Given the description of an element on the screen output the (x, y) to click on. 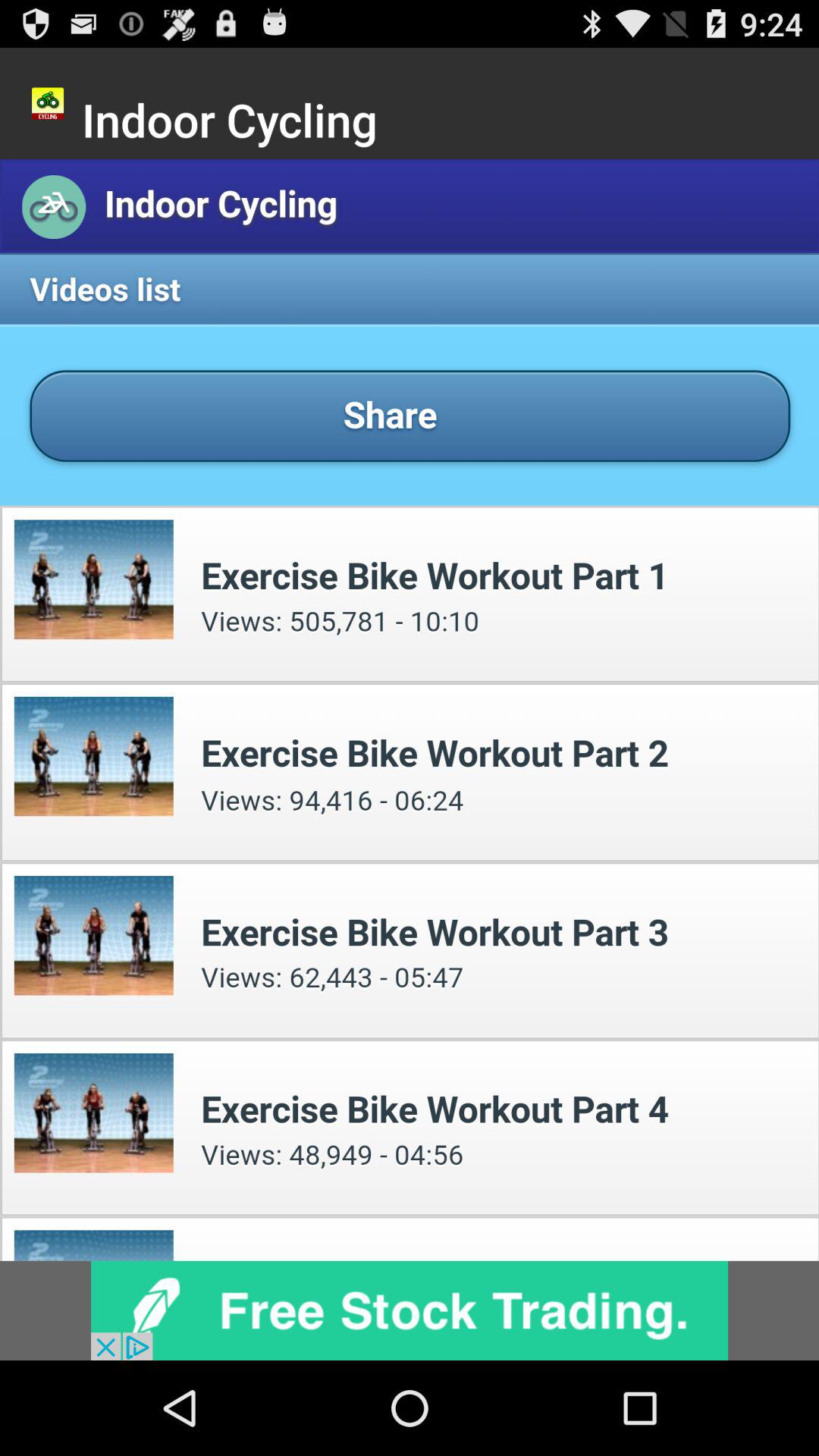
add banner (409, 1310)
